Given the description of an element on the screen output the (x, y) to click on. 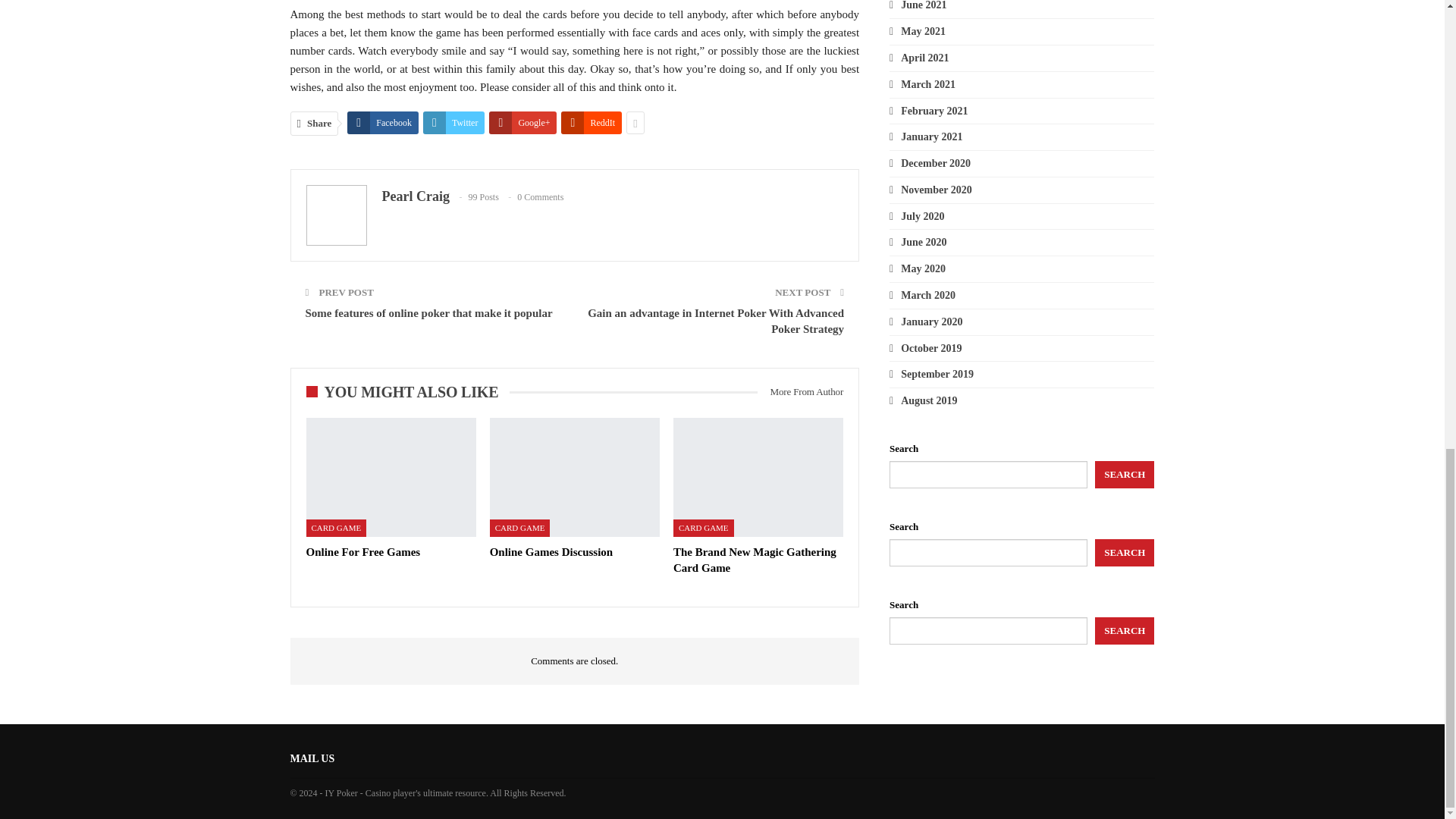
Online Games Discussion (574, 477)
Twitter (453, 122)
Facebook (383, 122)
Online Games Discussion (550, 551)
The Brand New Magic Gathering Card Game (757, 477)
ReddIt (590, 122)
Online For Free Games (362, 551)
The Brand New Magic Gathering Card Game (753, 560)
Online For Free Games (390, 477)
